Given the description of an element on the screen output the (x, y) to click on. 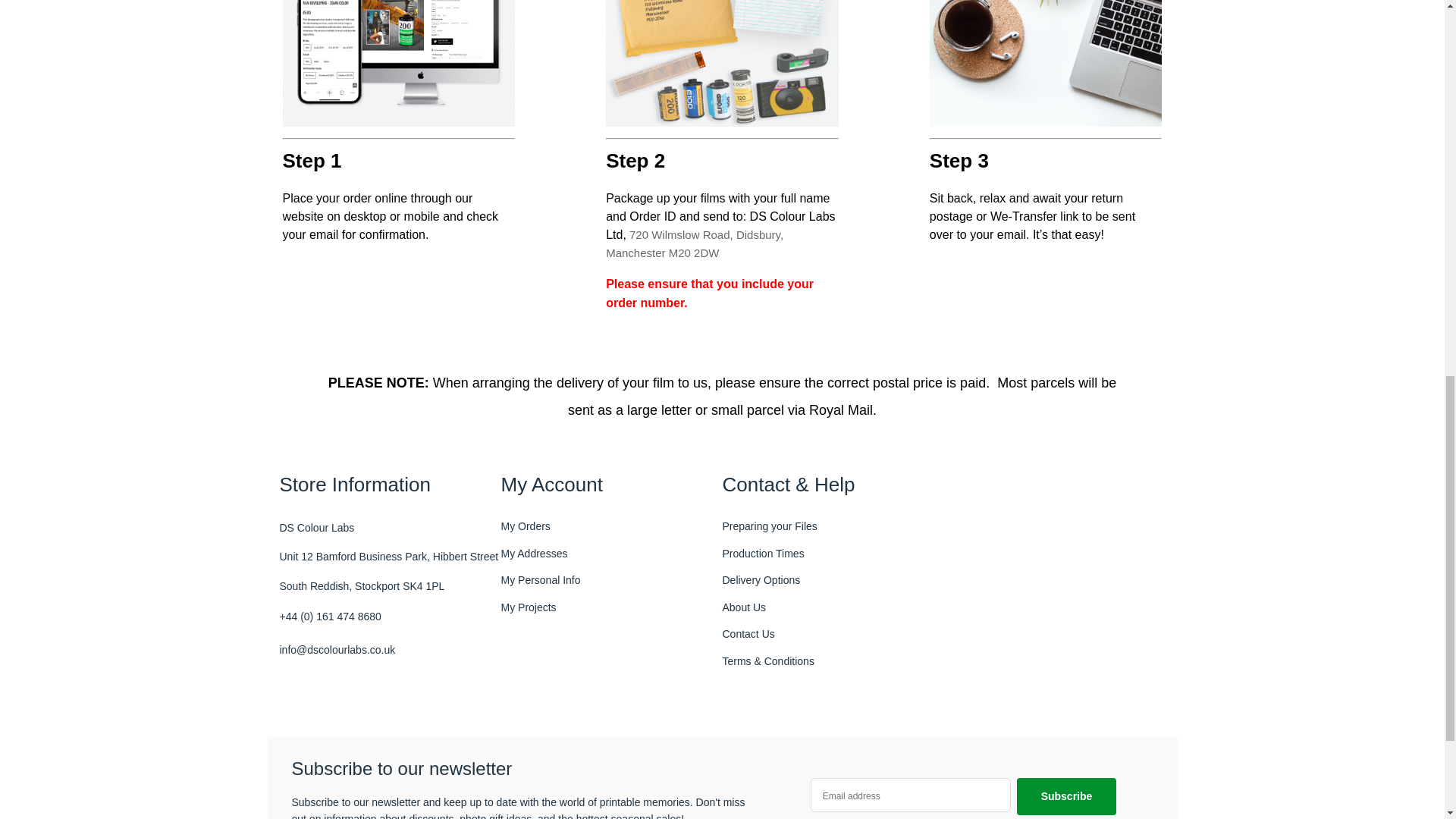
Delivery Options (760, 580)
My Personal Info (539, 580)
Store Information (389, 483)
My Projects (528, 607)
About Us (743, 607)
Preparing your Files (769, 526)
Contact Us (748, 634)
My Addresses (533, 554)
Production Times (762, 554)
My Orders (525, 526)
My Account (611, 483)
